Given the description of an element on the screen output the (x, y) to click on. 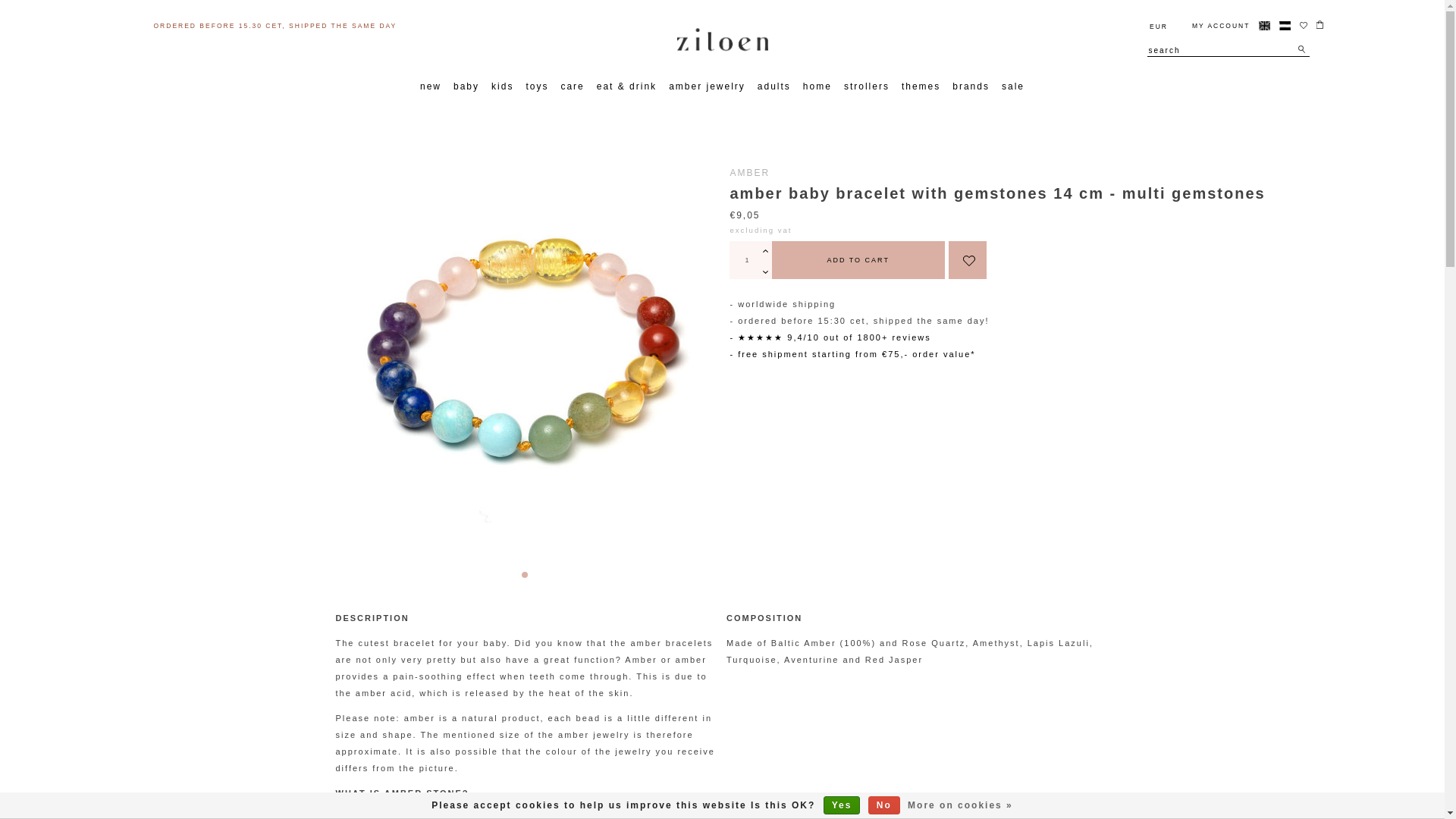
MY ACCOUNT (1214, 25)
eur (1158, 26)
dresses (743, 478)
bonnets (743, 478)
EUR (1158, 26)
tops (733, 478)
new (429, 86)
ORDERED BEFORE 15.30 CET, SHIPPED THE SAME DAY (274, 25)
babysuits (748, 478)
premature (749, 478)
CART (1232, 53)
My account (1214, 25)
baby (465, 86)
see all (740, 478)
